Given the description of an element on the screen output the (x, y) to click on. 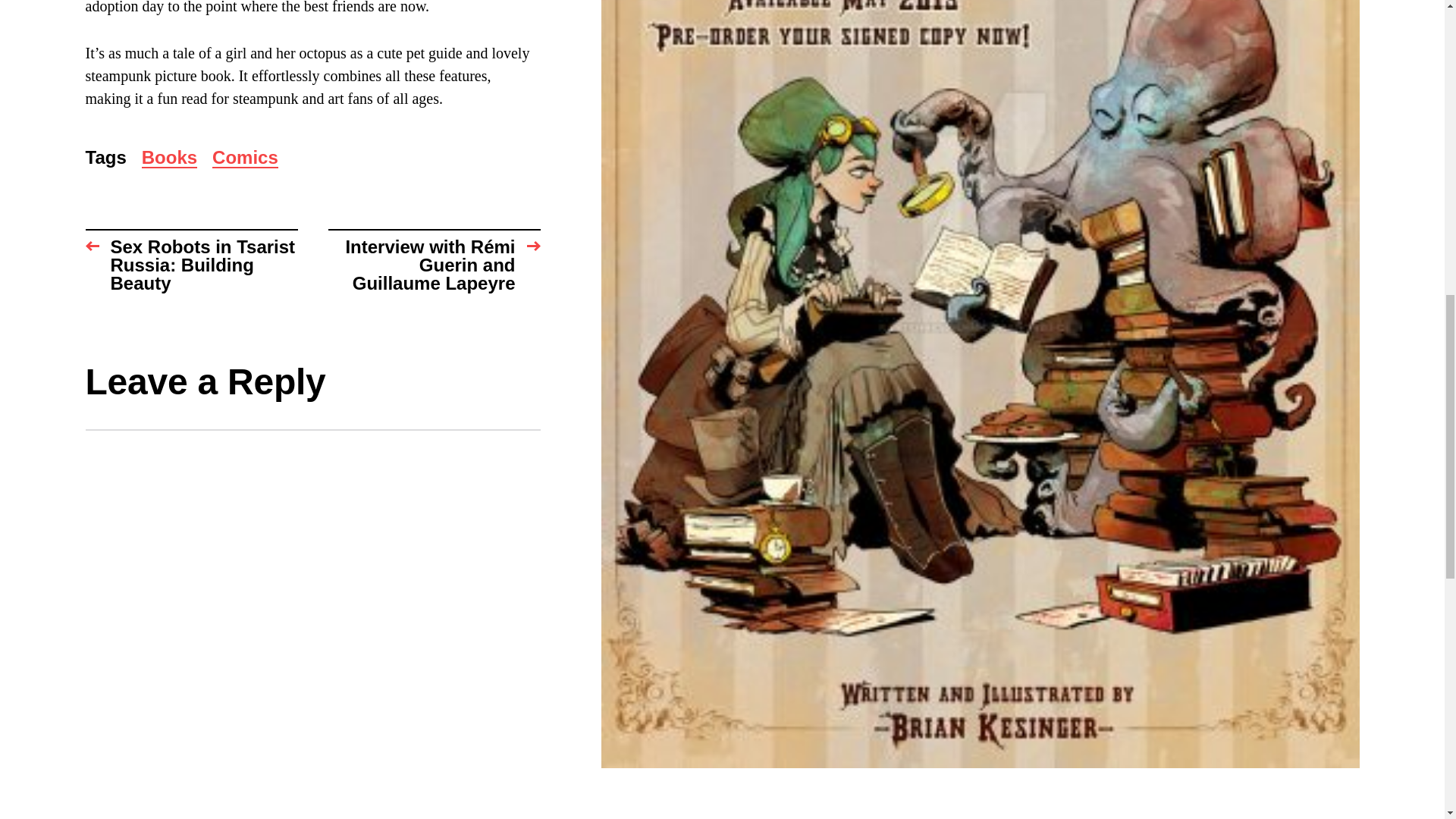
Books (168, 158)
Comics (245, 158)
Sex Robots in Tsarist Russia: Building Beauty (190, 260)
